Given the description of an element on the screen output the (x, y) to click on. 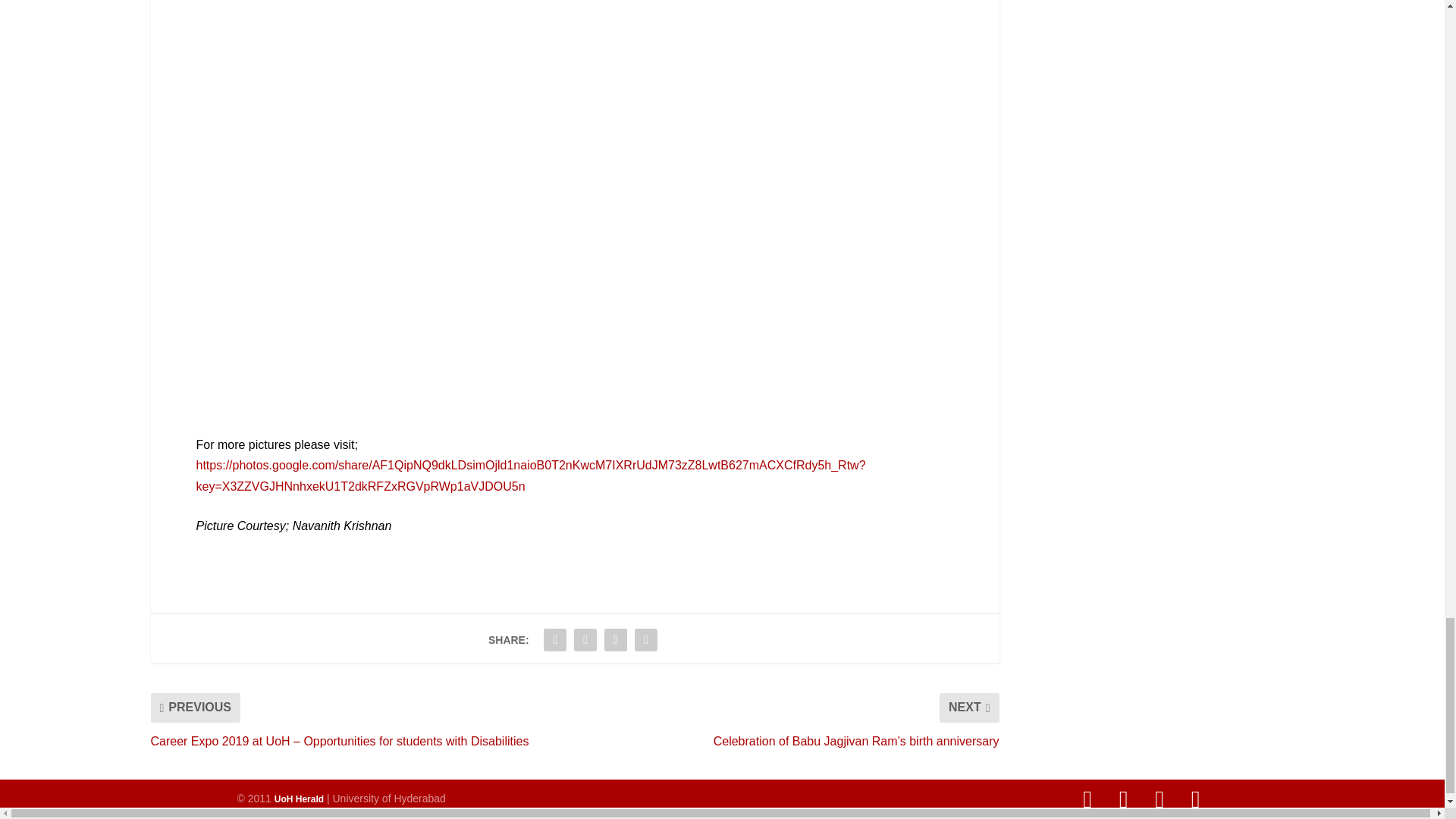
Share "Mesmerizing Dance Recital by Team Vrukshah" via Email (645, 639)
UoH Herald (299, 798)
